Given the description of an element on the screen output the (x, y) to click on. 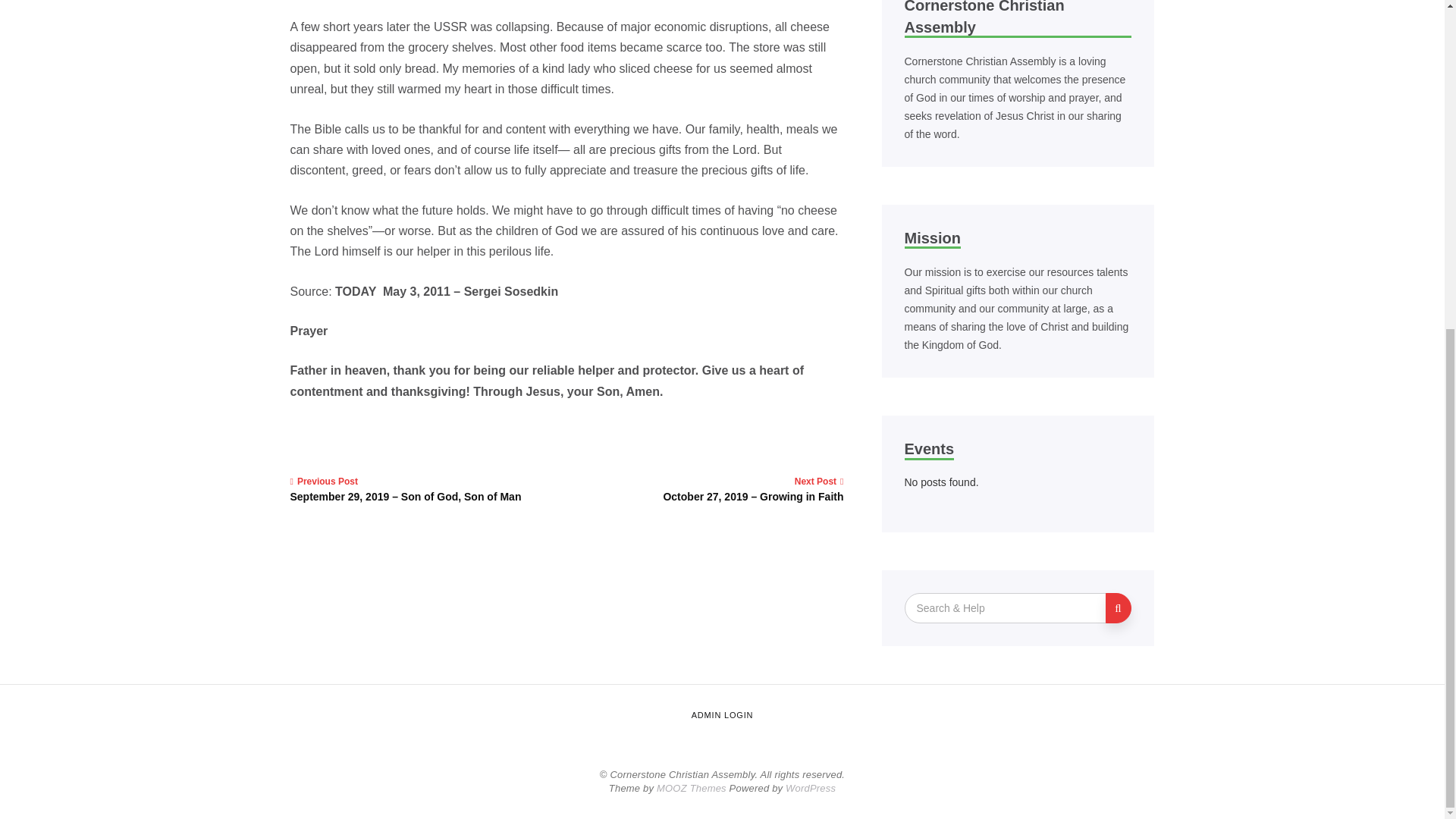
WordPress (810, 787)
Search for: (1005, 607)
MOOZ Themes (691, 787)
ADMIN LOGIN (722, 714)
